Given the description of an element on the screen output the (x, y) to click on. 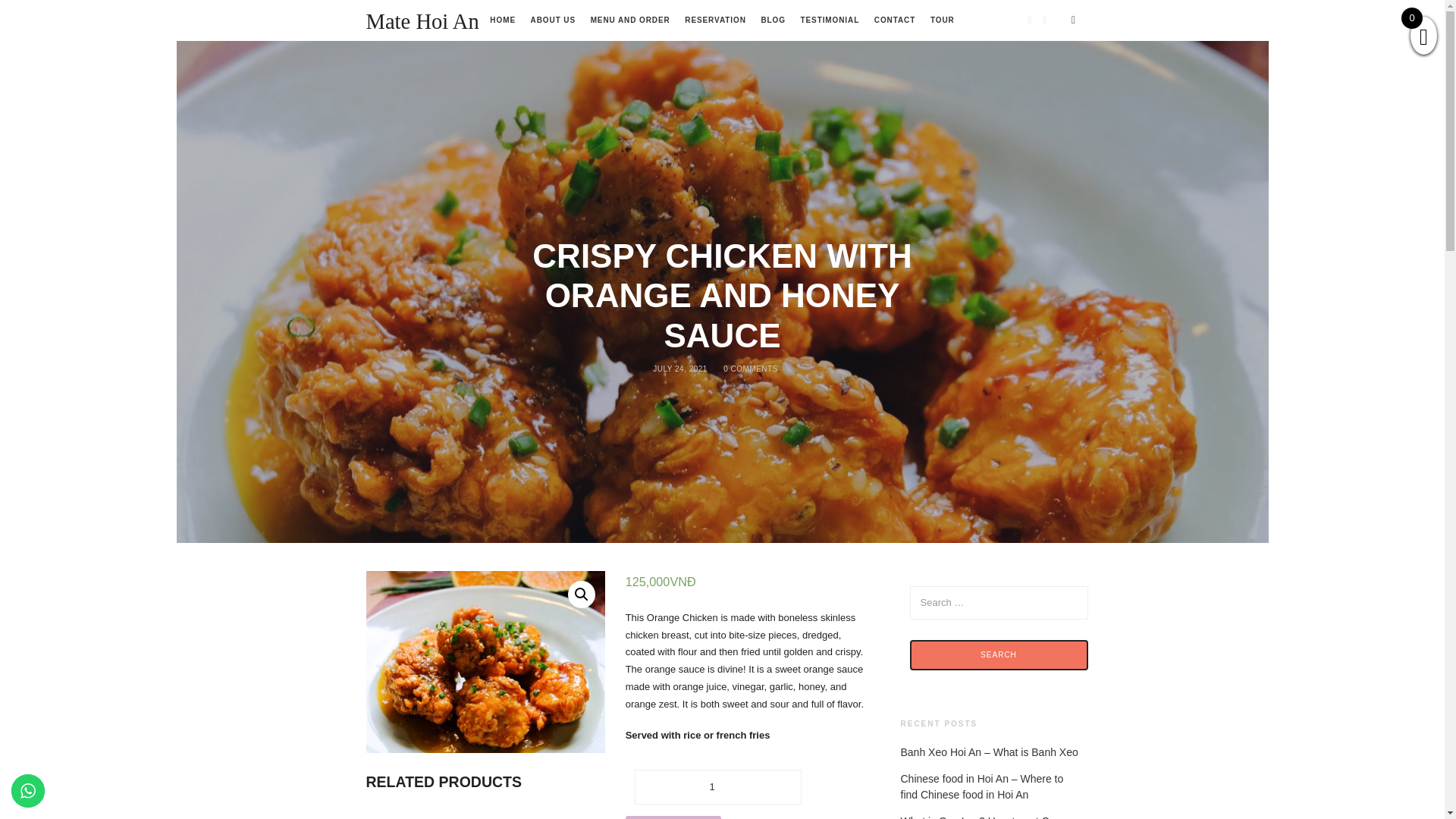
CONTACT (895, 20)
DSCF4301 (485, 661)
Search (998, 654)
Mate Hoi An (422, 21)
BLOG (773, 20)
HOME (502, 20)
TOUR (942, 20)
Search (998, 654)
1 (718, 787)
ABOUT US (553, 20)
MENU AND ORDER (630, 20)
TESTIMONIAL (830, 20)
Qty (718, 787)
